Given the description of an element on the screen output the (x, y) to click on. 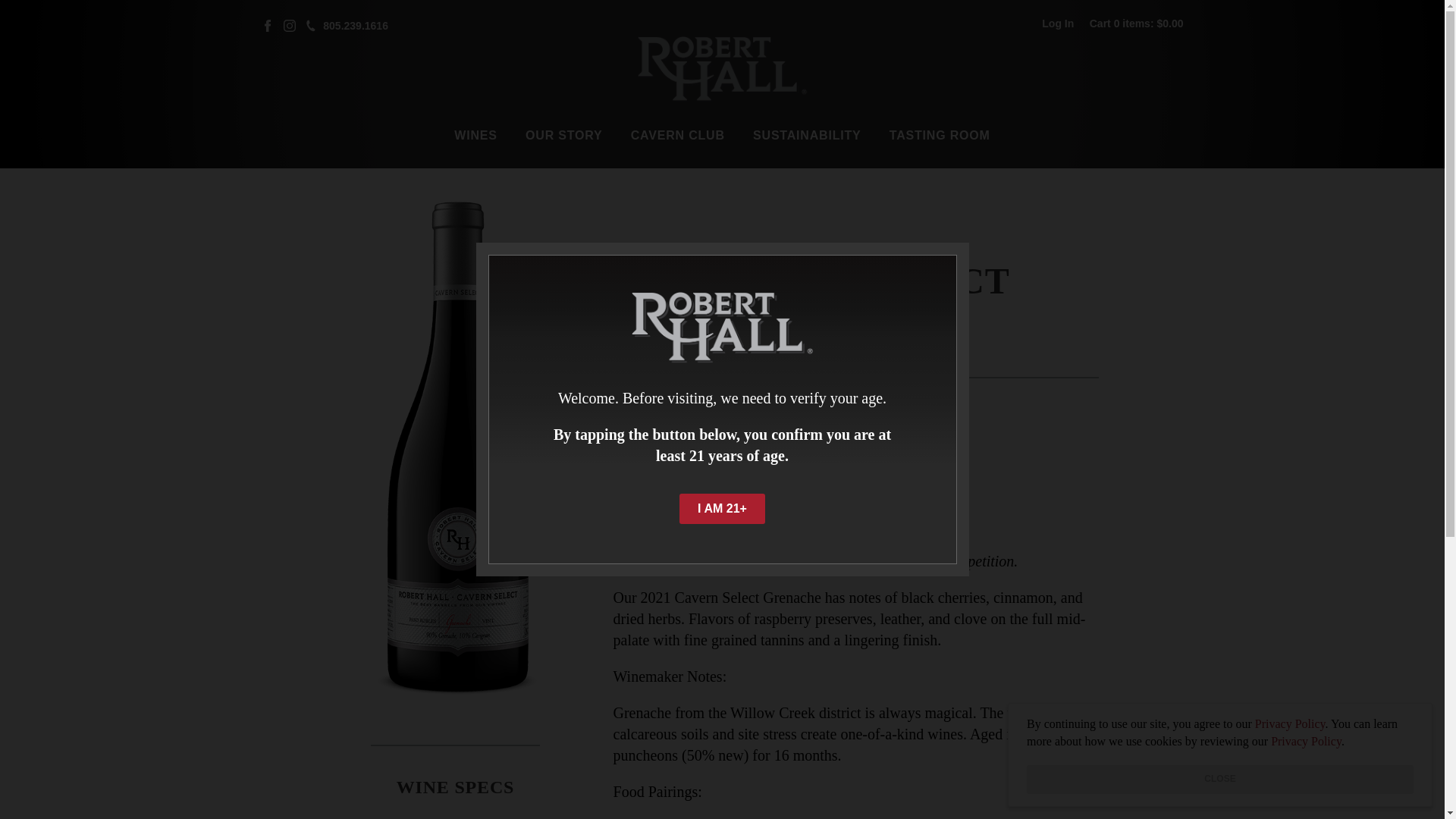
1 (630, 471)
Log In (1058, 23)
OUR STORY (563, 135)
WINES (475, 135)
CAVERN CLUB (677, 135)
805.239.1616 (355, 25)
SUSTAINABILITY (806, 135)
TASTING ROOM (940, 135)
ADD TO CART (718, 472)
